Given the description of an element on the screen output the (x, y) to click on. 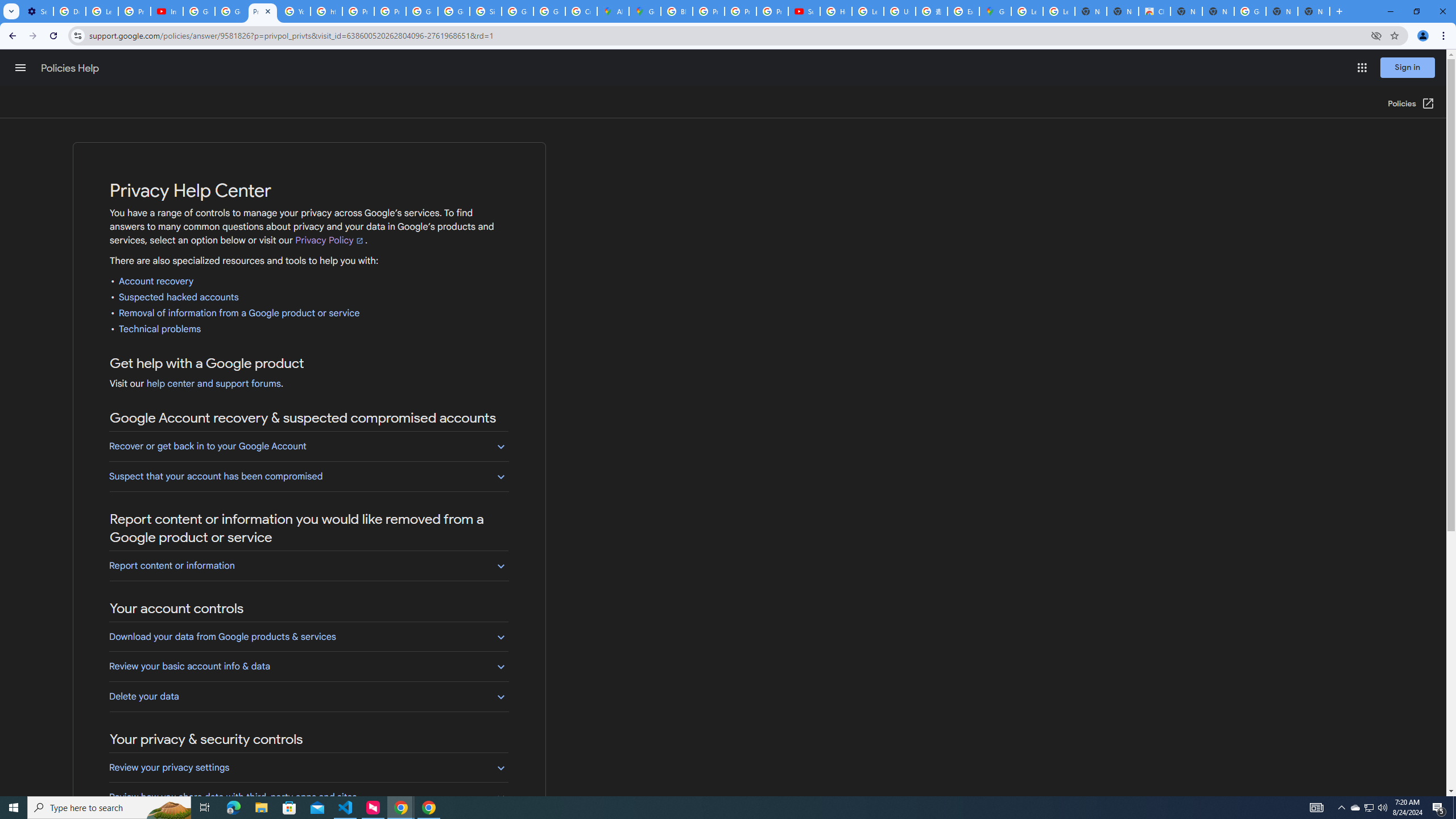
Privacy Help Center - Policies Help (740, 11)
Google Maps (995, 11)
Privacy Help Center - Policies Help (708, 11)
Suspect that your account has been compromised (308, 476)
Review how you share data with third-party apps and sites (308, 797)
Policies Help (70, 68)
Download your data from Google products & services (308, 636)
YouTube (294, 11)
Review your privacy settings (308, 767)
How Chrome protects your passwords - Google Chrome Help (836, 11)
